Given the description of an element on the screen output the (x, y) to click on. 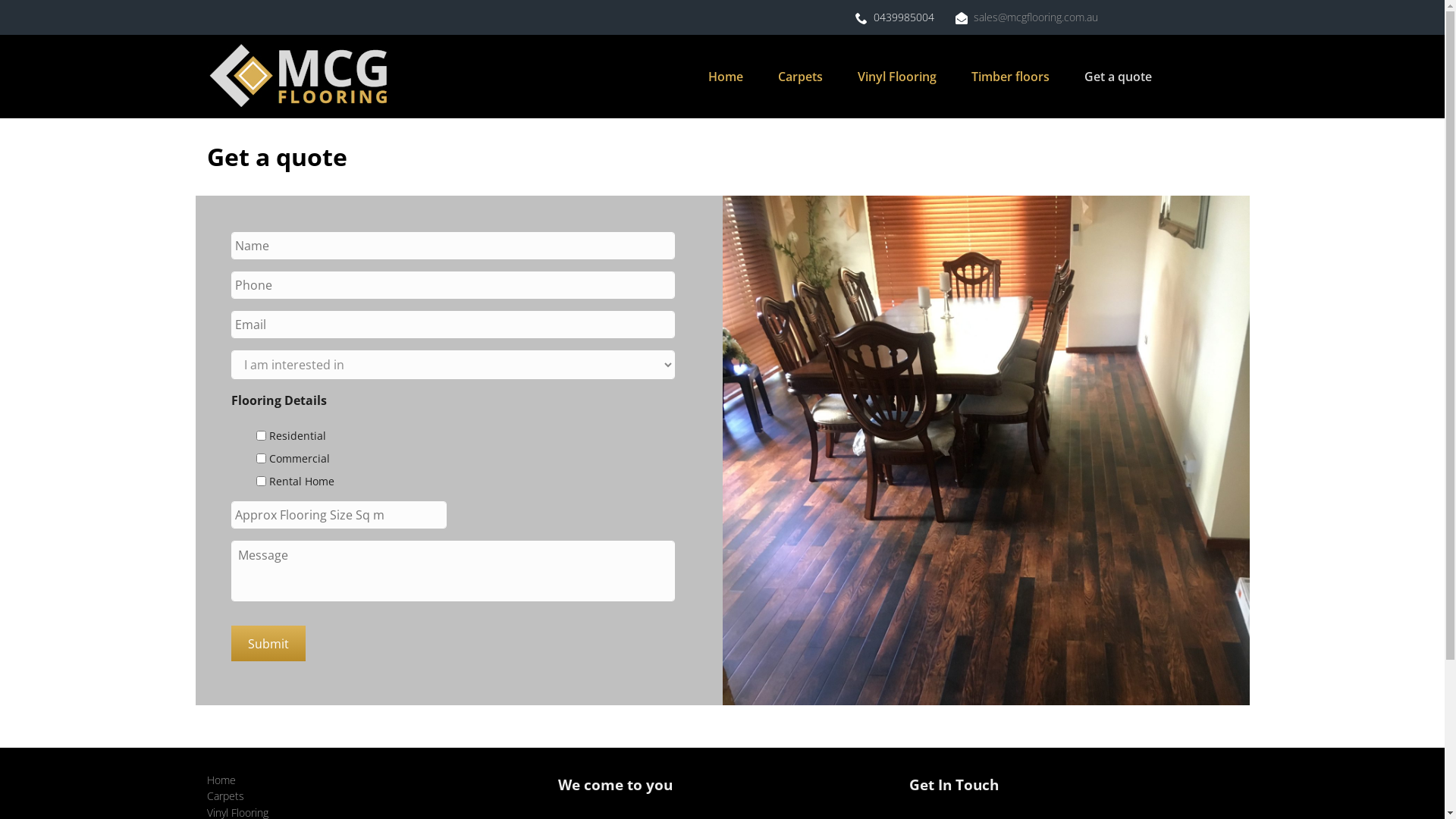
Carpets Element type: text (224, 795)
Home Element type: text (220, 779)
Timber floors Element type: text (1010, 76)
sales@mcgflooring.com.au Element type: text (1035, 16)
Home Element type: text (725, 76)
Get a quote Element type: text (1117, 76)
Vinyl Flooring Element type: text (896, 76)
Carpets Element type: text (799, 76)
Submit Element type: text (267, 642)
